Given the description of an element on the screen output the (x, y) to click on. 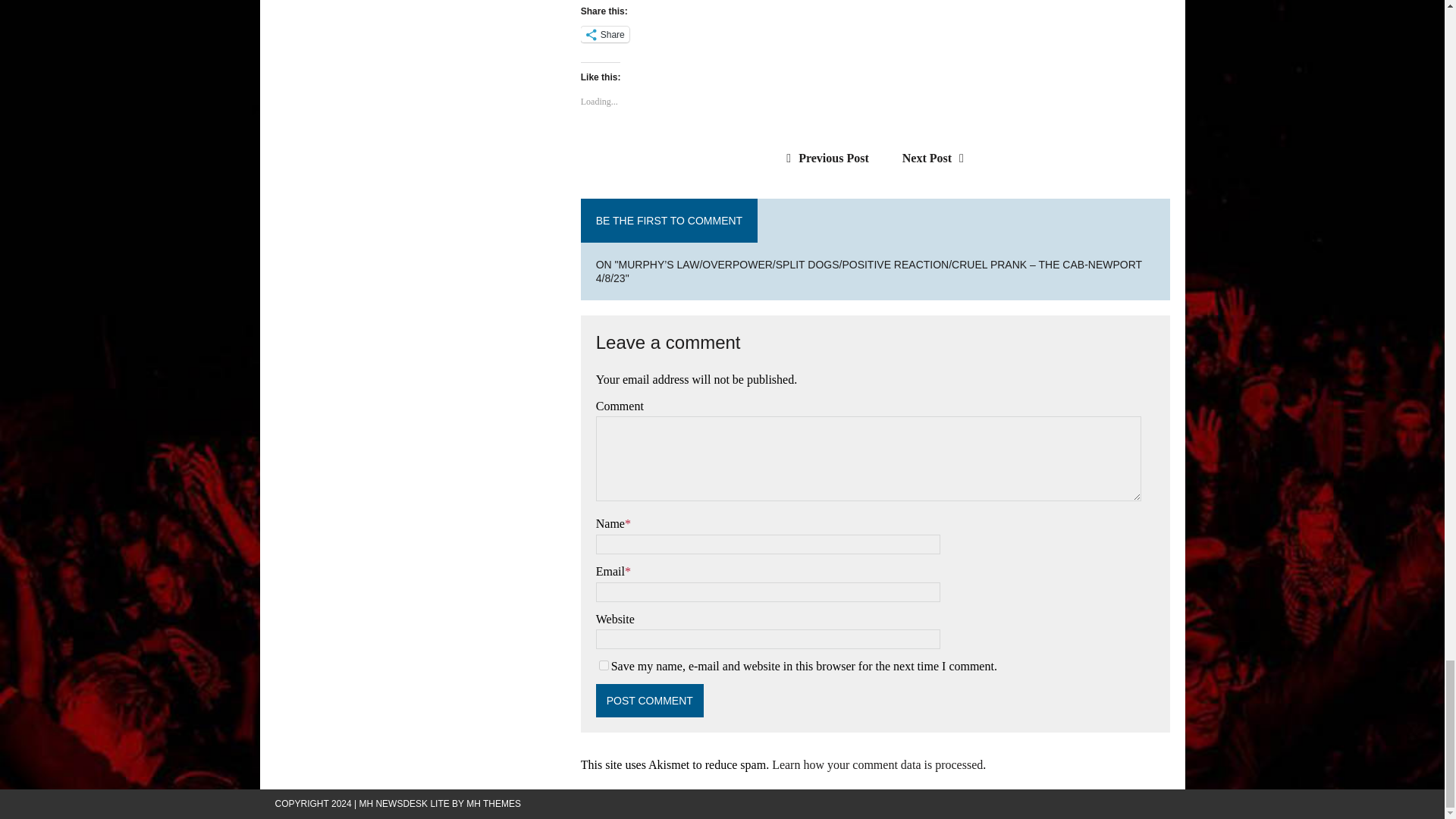
yes (603, 665)
Share (604, 34)
Post Comment (649, 700)
